Given the description of an element on the screen output the (x, y) to click on. 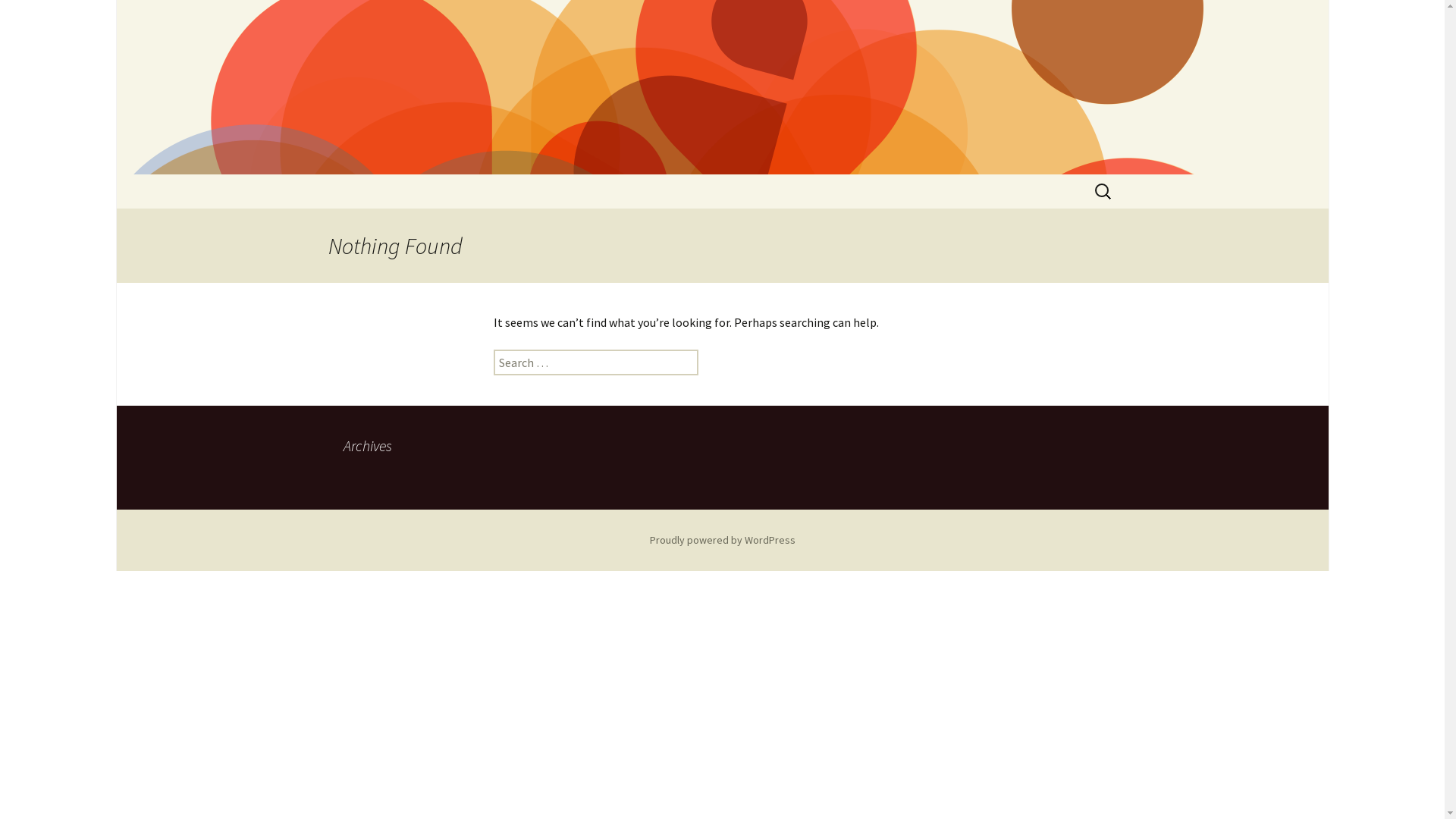
Proudly powered by WordPress Element type: text (721, 539)
Search Element type: text (18, 16)
Skip to content Element type: text (312, 173)
Search Element type: text (35, 16)
